Given the description of an element on the screen output the (x, y) to click on. 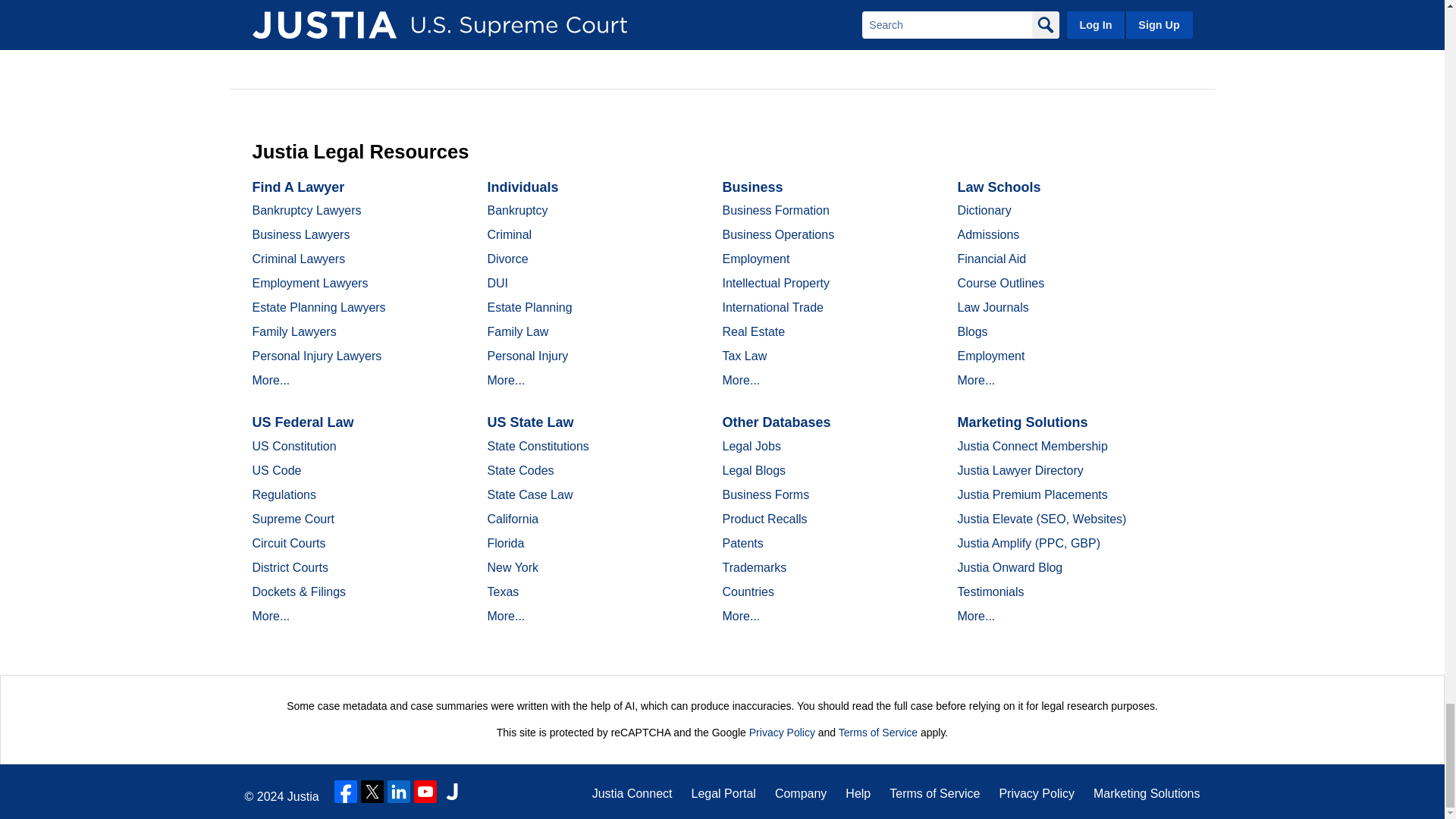
Facebook (345, 791)
LinkedIn (398, 791)
YouTube (424, 791)
Justia Lawyer Directory (452, 791)
Twitter (372, 791)
